Given the description of an element on the screen output the (x, y) to click on. 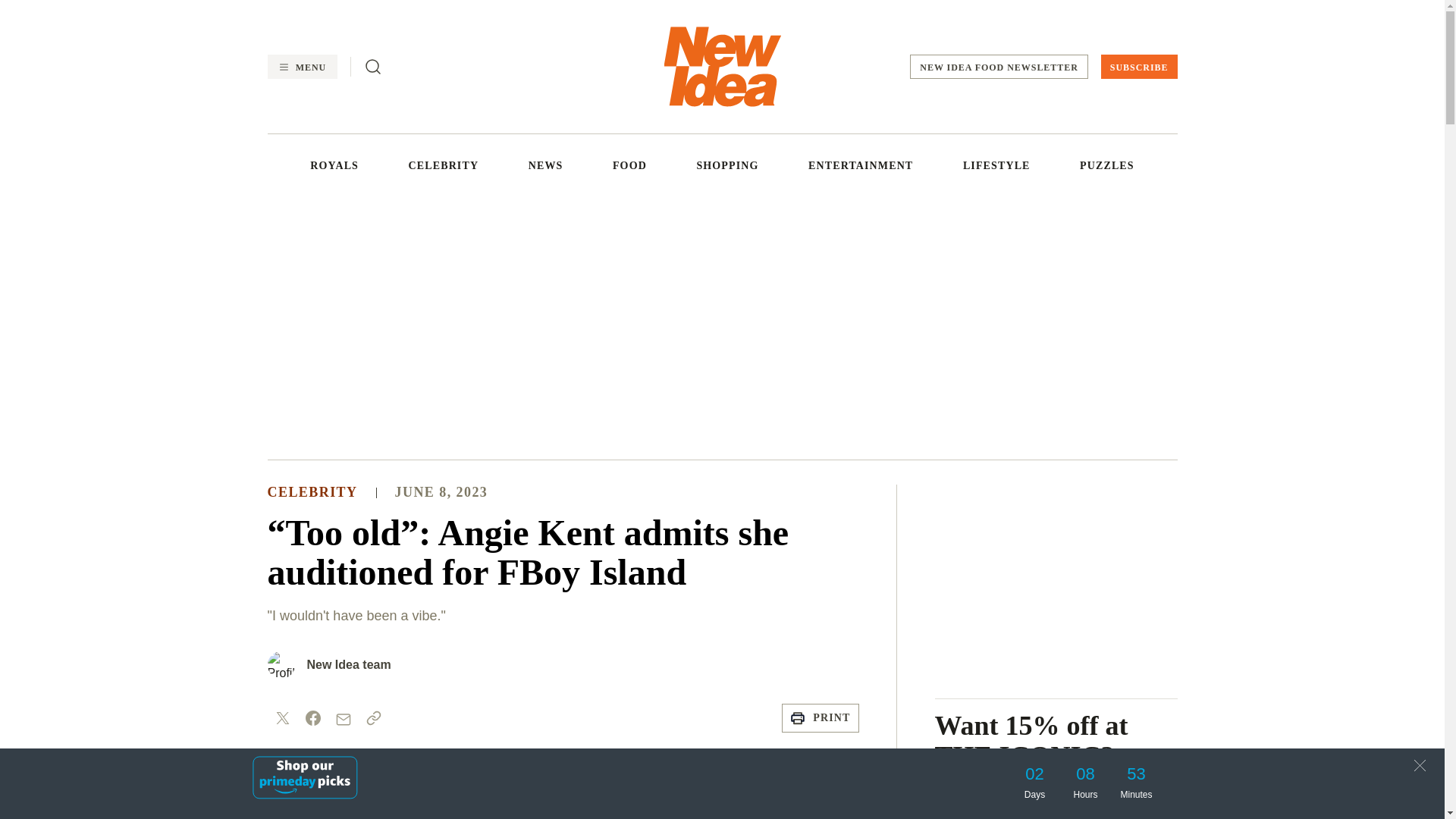
CELEBRITY (444, 165)
ENTERTAINMENT (860, 165)
ROYALS (334, 165)
NEW IDEA FOOD NEWSLETTER (998, 66)
SUBSCRIBE (1138, 66)
SHOPPING (726, 165)
MENU (301, 66)
3rd party ad content (1055, 579)
FOOD (629, 165)
PUZZLES (1107, 165)
LIFESTYLE (996, 165)
NEWS (545, 165)
3rd party ad content (721, 325)
